Given the description of an element on the screen output the (x, y) to click on. 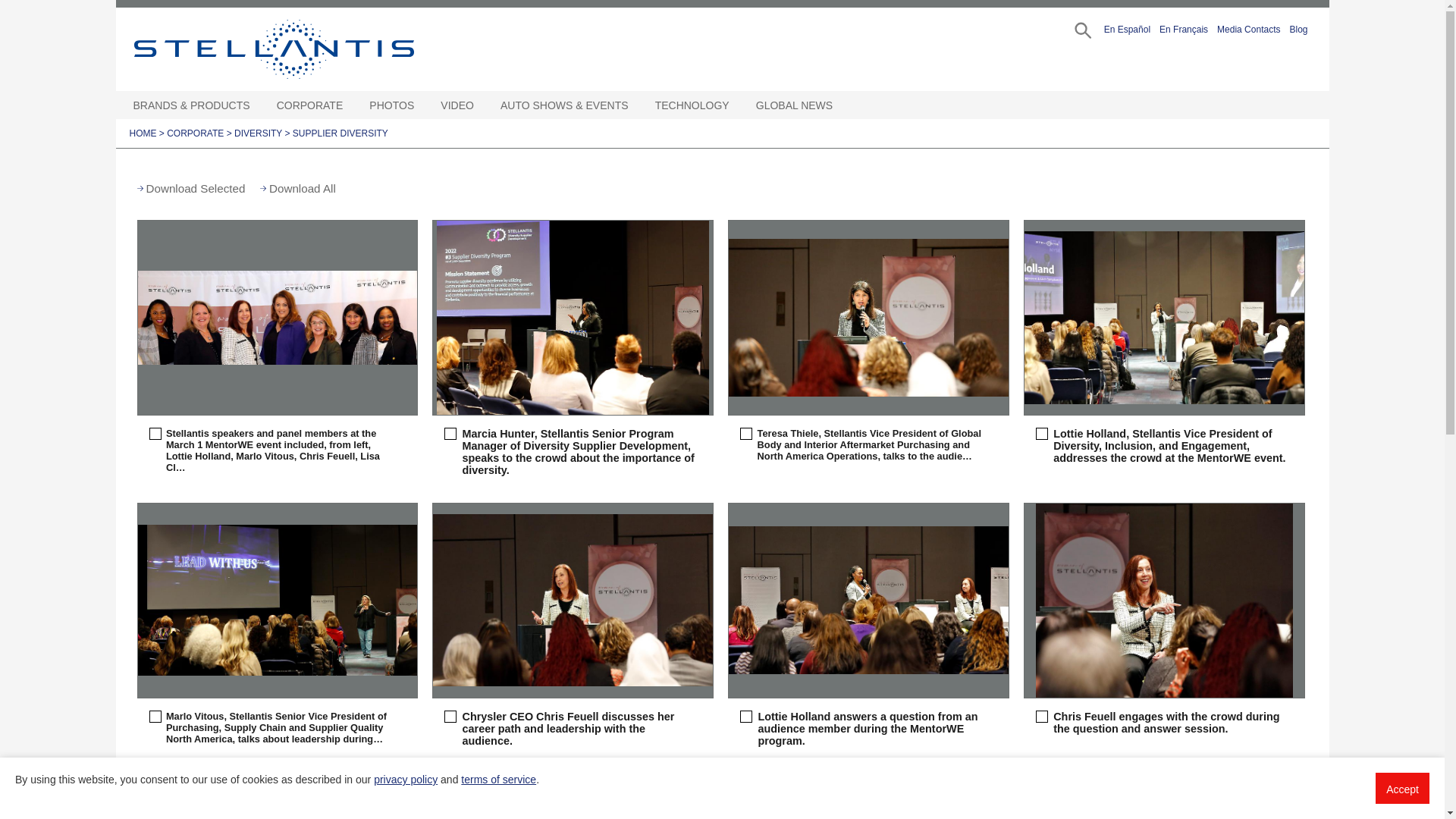
Blog (1297, 27)
Media Contacts (1248, 27)
Stellantis (307, 48)
An audience member asks a question during the program. (276, 796)
go to Stellantis (307, 48)
